Given the description of an element on the screen output the (x, y) to click on. 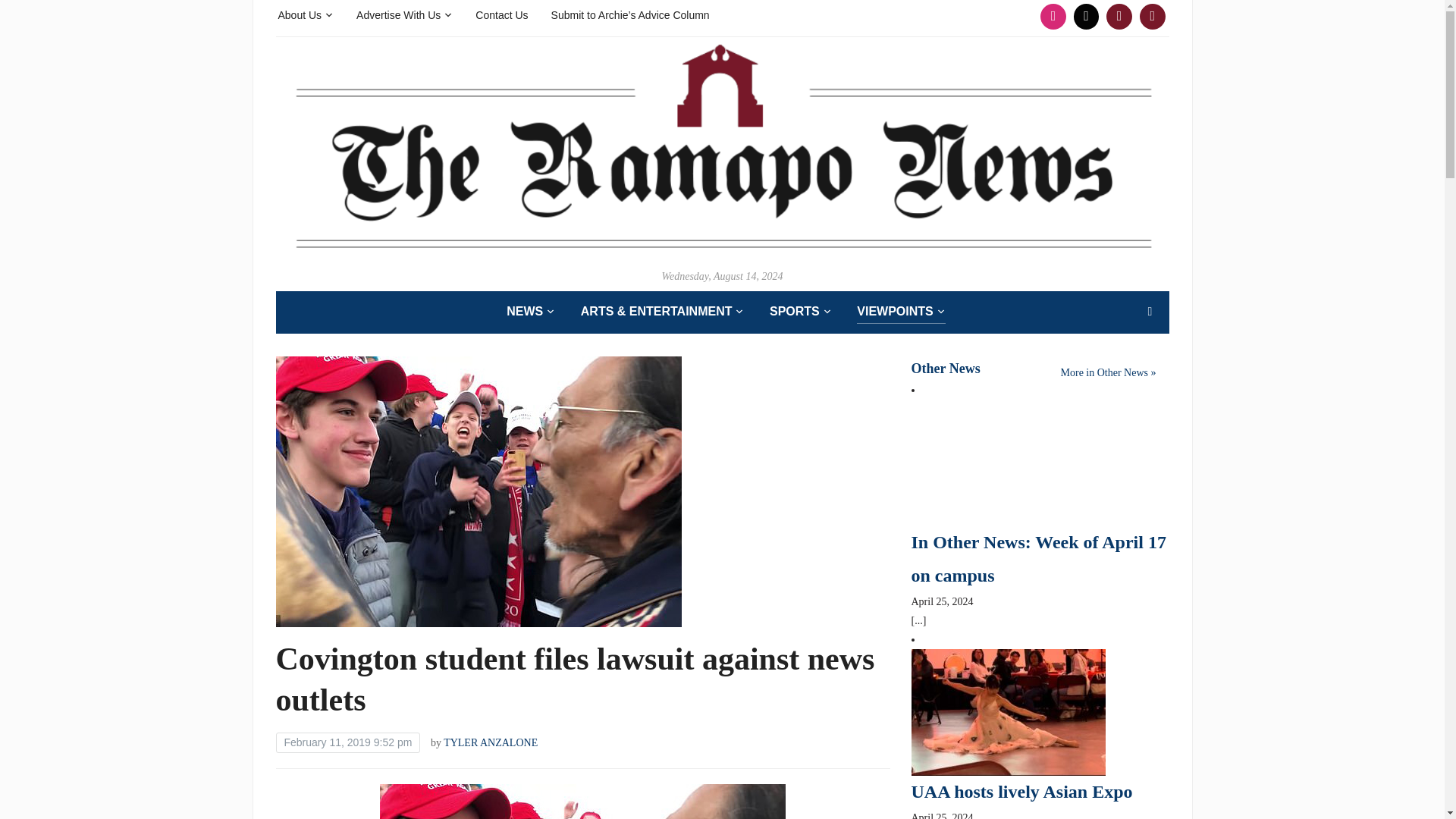
Advertise With Us (404, 14)
Contact Us (501, 14)
In Other News: Week of April 17 on campus (1038, 558)
Tiktok (1086, 16)
In Other News: Week of April 17 on campus (1008, 461)
About Us (305, 14)
Mail (1152, 16)
Search (1149, 311)
Instagram (1053, 16)
UAA hosts lively Asian Expo (1021, 791)
